Given the description of an element on the screen output the (x, y) to click on. 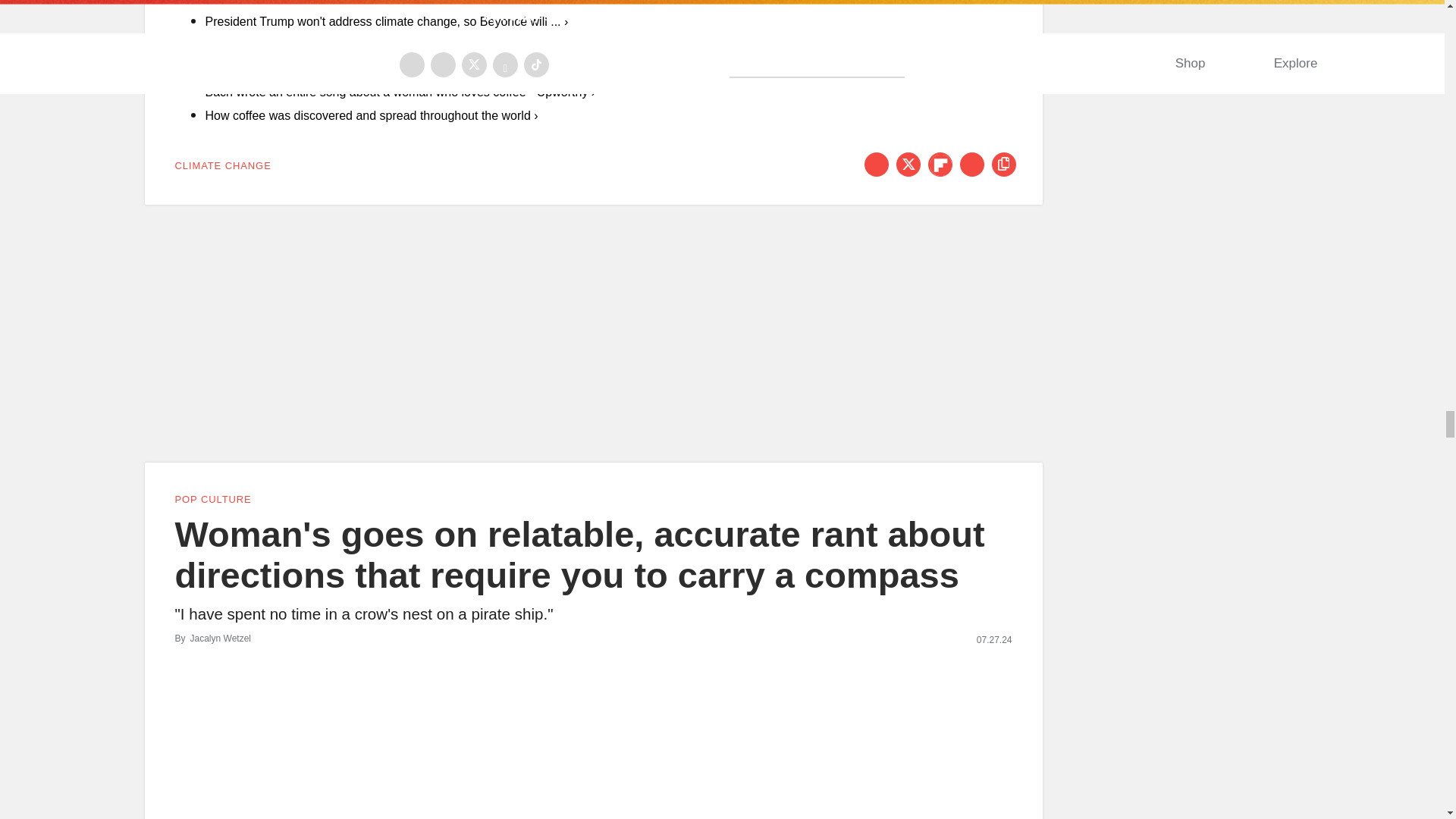
Copy this link to clipboard (1003, 164)
